Given the description of an element on the screen output the (x, y) to click on. 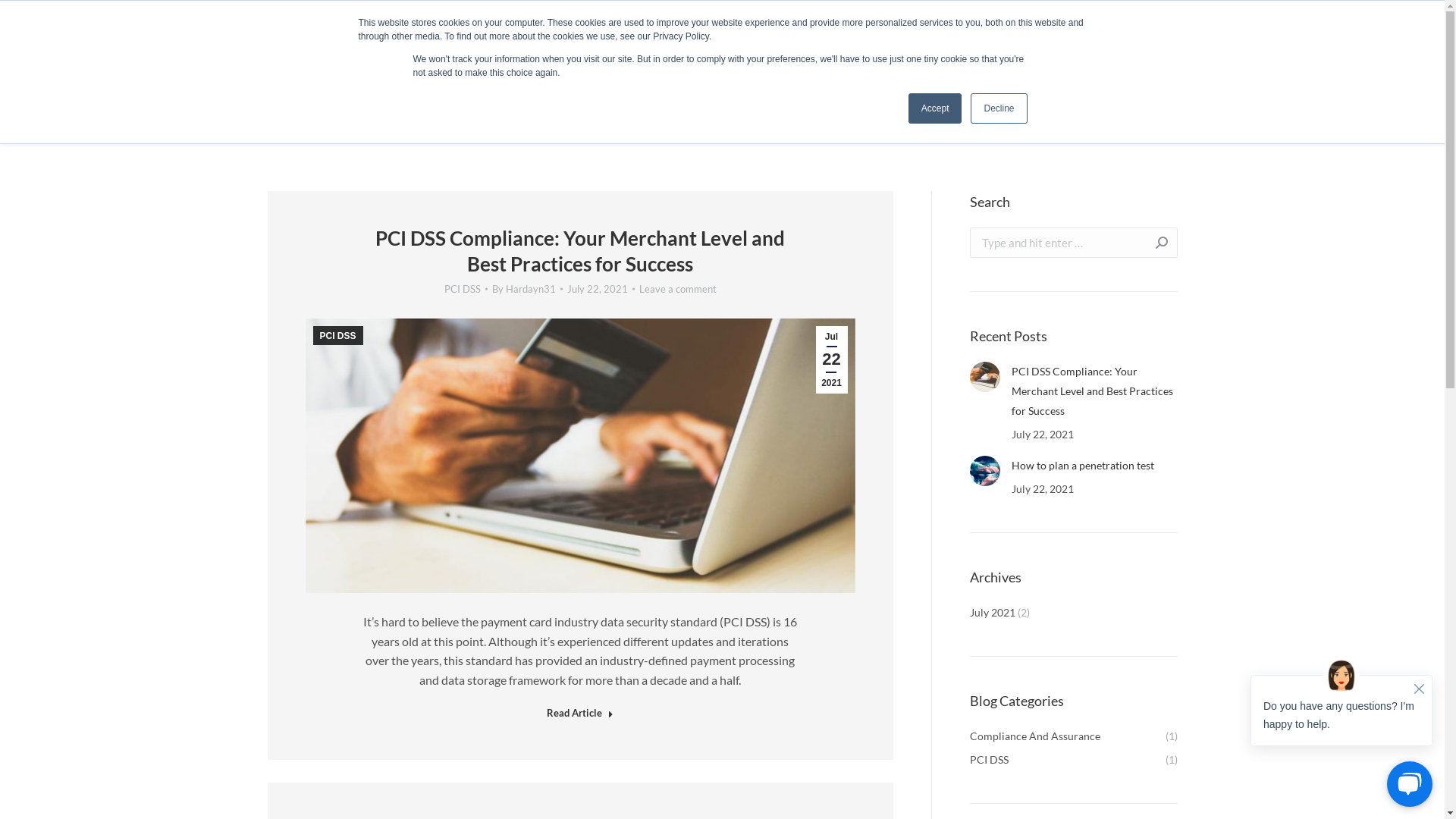
Security & Compliance
Services Element type: text (612, 103)
Consulting
Services Element type: text (751, 103)
July 2021 Element type: text (991, 612)
July 22, 2021 Element type: text (600, 288)
How to plan a penetration test Element type: text (1082, 465)
+44 208 087 2397 Element type: text (1354, 55)
pci-dss-compliance Element type: hover (579, 455)
Contact us Element type: text (1253, 55)
Read Article Element type: text (579, 715)
Gift Element type: text (921, 21)
Software Development
Services Element type: text (893, 103)
Go! Element type: text (1154, 242)
About us Element type: text (1107, 55)
By Hardayn31 Element type: text (526, 288)
Accept Element type: text (935, 108)
Leave a comment Element type: text (676, 288)
PCI DSS Element type: text (337, 335)
Jul
22
2021 Element type: text (831, 359)
Careers Element type: text (1178, 55)
Decline Element type: text (998, 108)
PCI DSS Element type: text (462, 288)
